Given the description of an element on the screen output the (x, y) to click on. 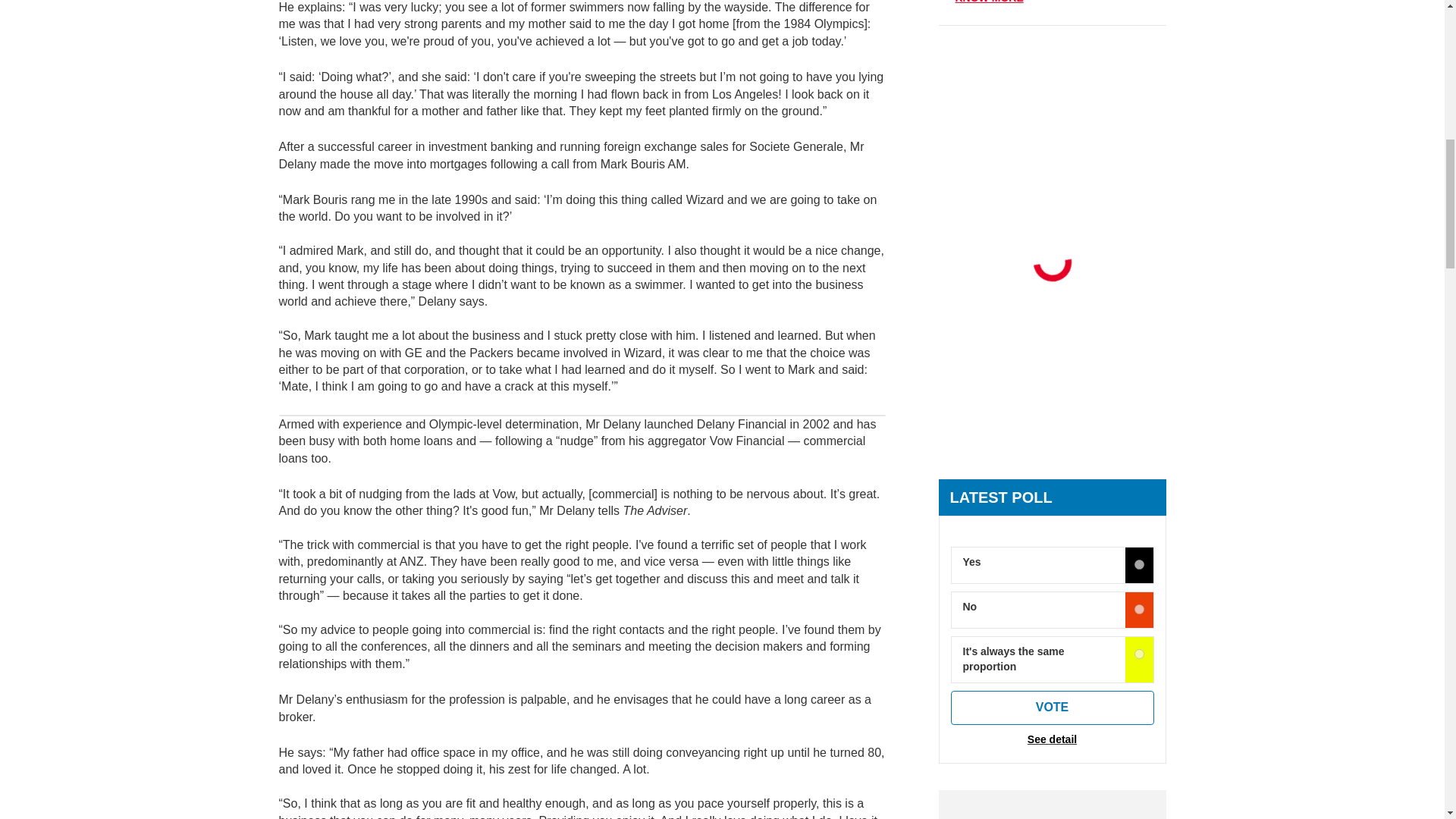
0 (1139, 564)
2 (1139, 654)
1 (1139, 609)
